Given the description of an element on the screen output the (x, y) to click on. 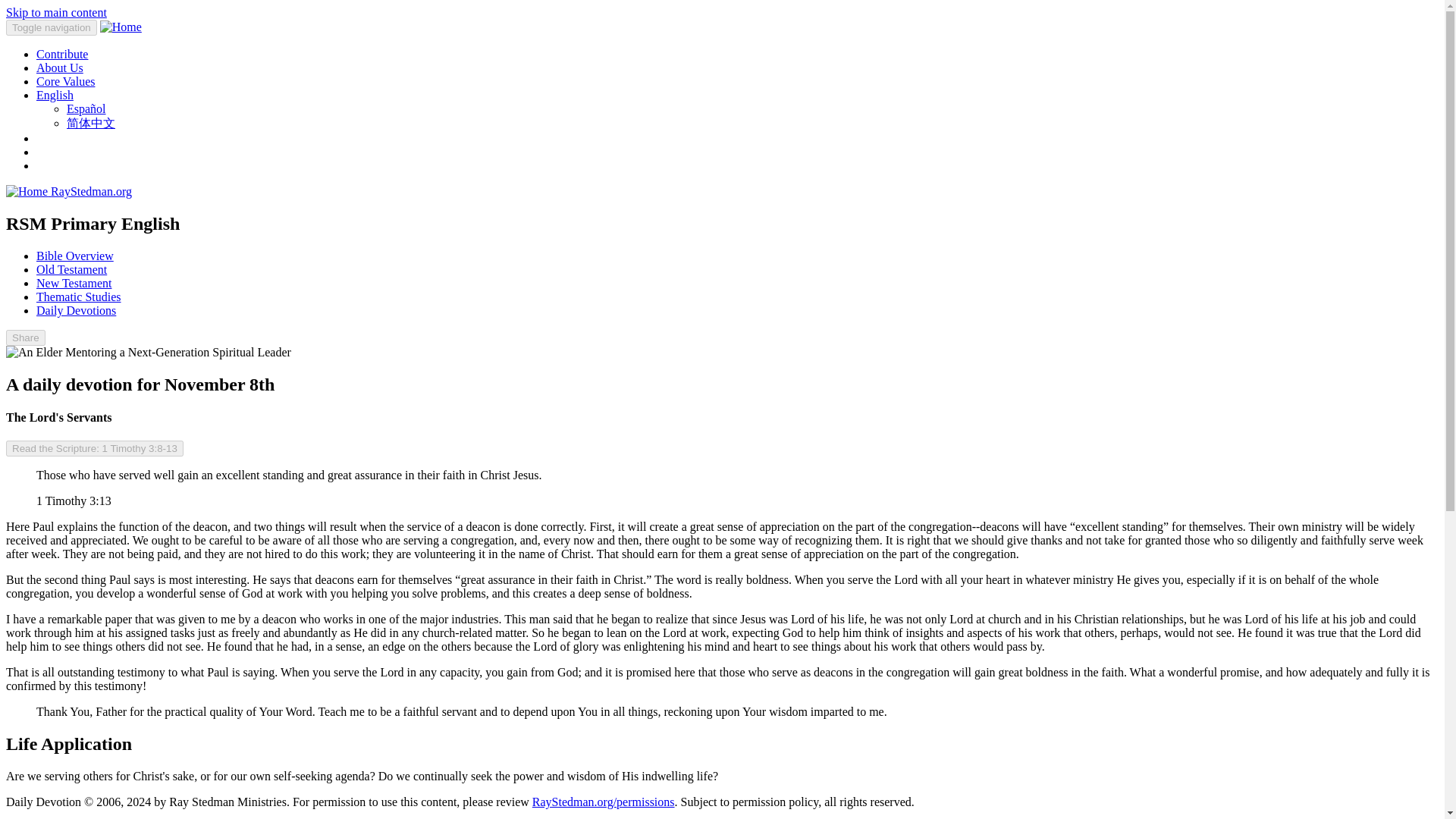
Daily Devotions (76, 309)
Share (25, 337)
Core Values (65, 81)
Old Testament (71, 269)
Contribute (61, 53)
Home (120, 26)
Thematic Studies (78, 296)
Bible Overview (74, 255)
Skip to main content (55, 11)
Home (27, 191)
New Testament (74, 282)
English (55, 94)
Read the Scripture: 1 Timothy 3:8-13 (94, 448)
Bible Overview (74, 255)
Home (91, 191)
